Given the description of an element on the screen output the (x, y) to click on. 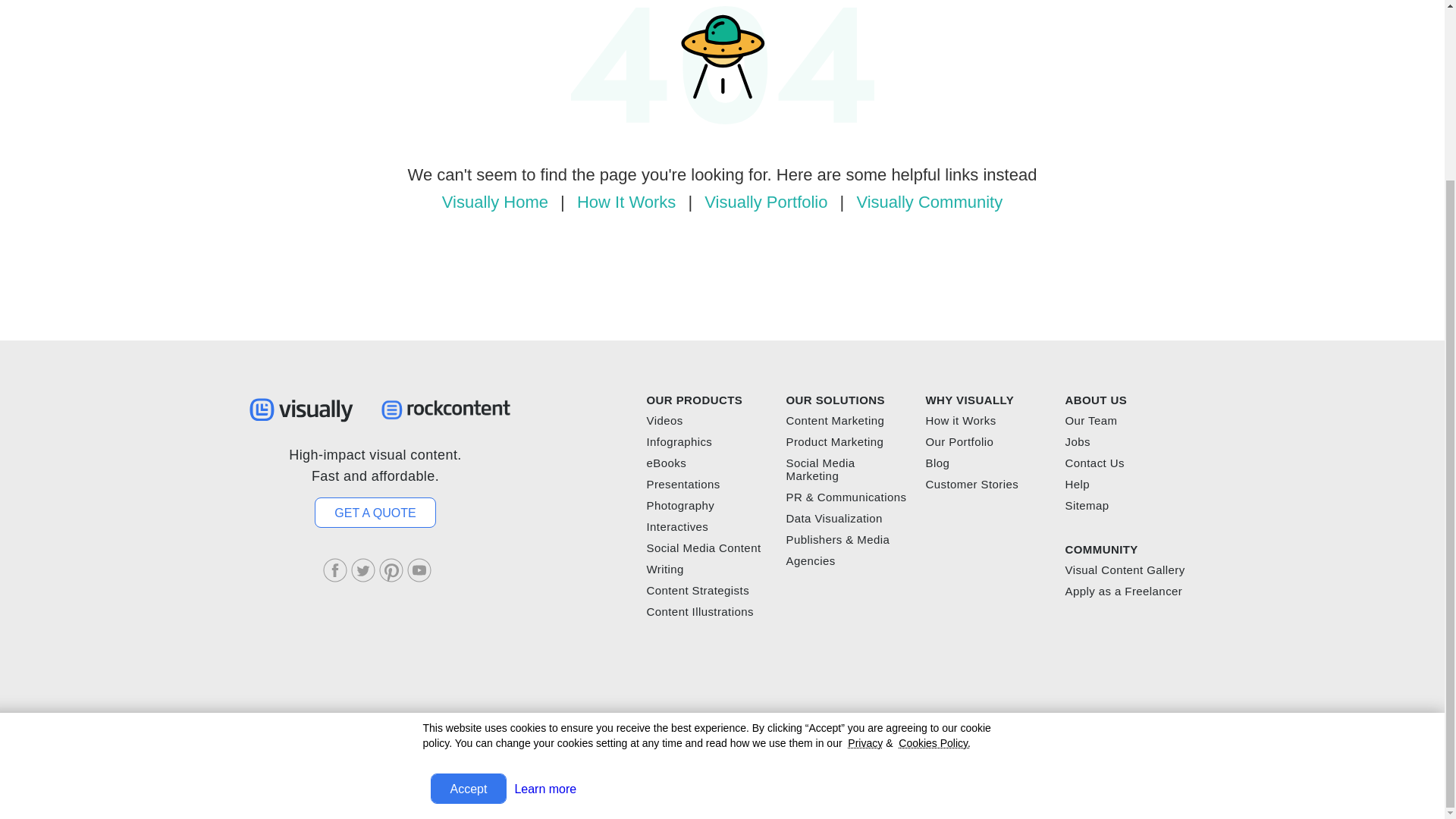
How It Works (624, 201)
Interactives (676, 526)
Infographics (678, 440)
Presentations (682, 483)
Visually Portfolio (763, 201)
Visually Home (494, 201)
Videos (664, 420)
eBooks (665, 462)
Visually Community (927, 201)
Social Media Content (703, 547)
